Given the description of an element on the screen output the (x, y) to click on. 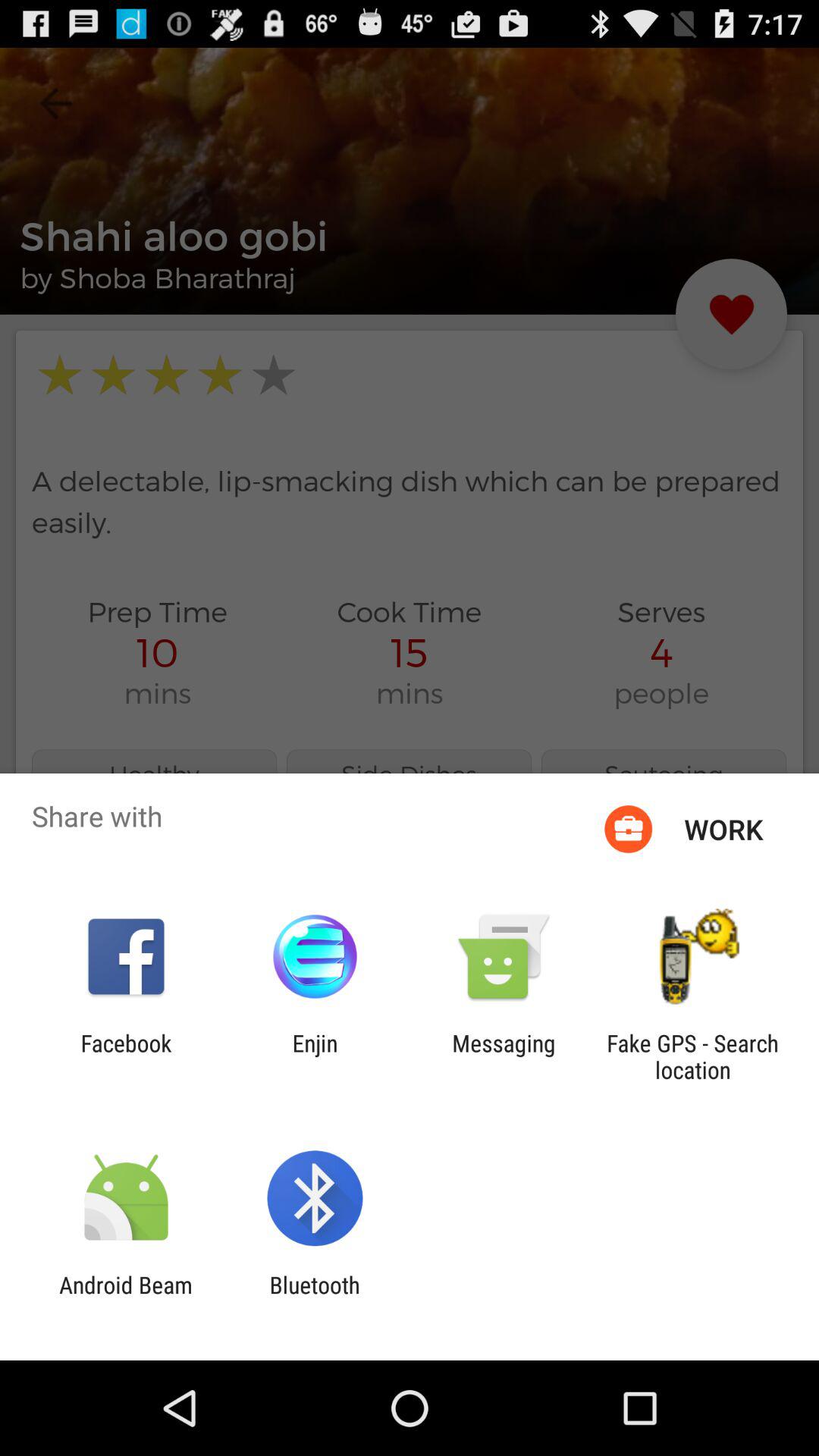
turn on the item to the left of enjin icon (125, 1056)
